Given the description of an element on the screen output the (x, y) to click on. 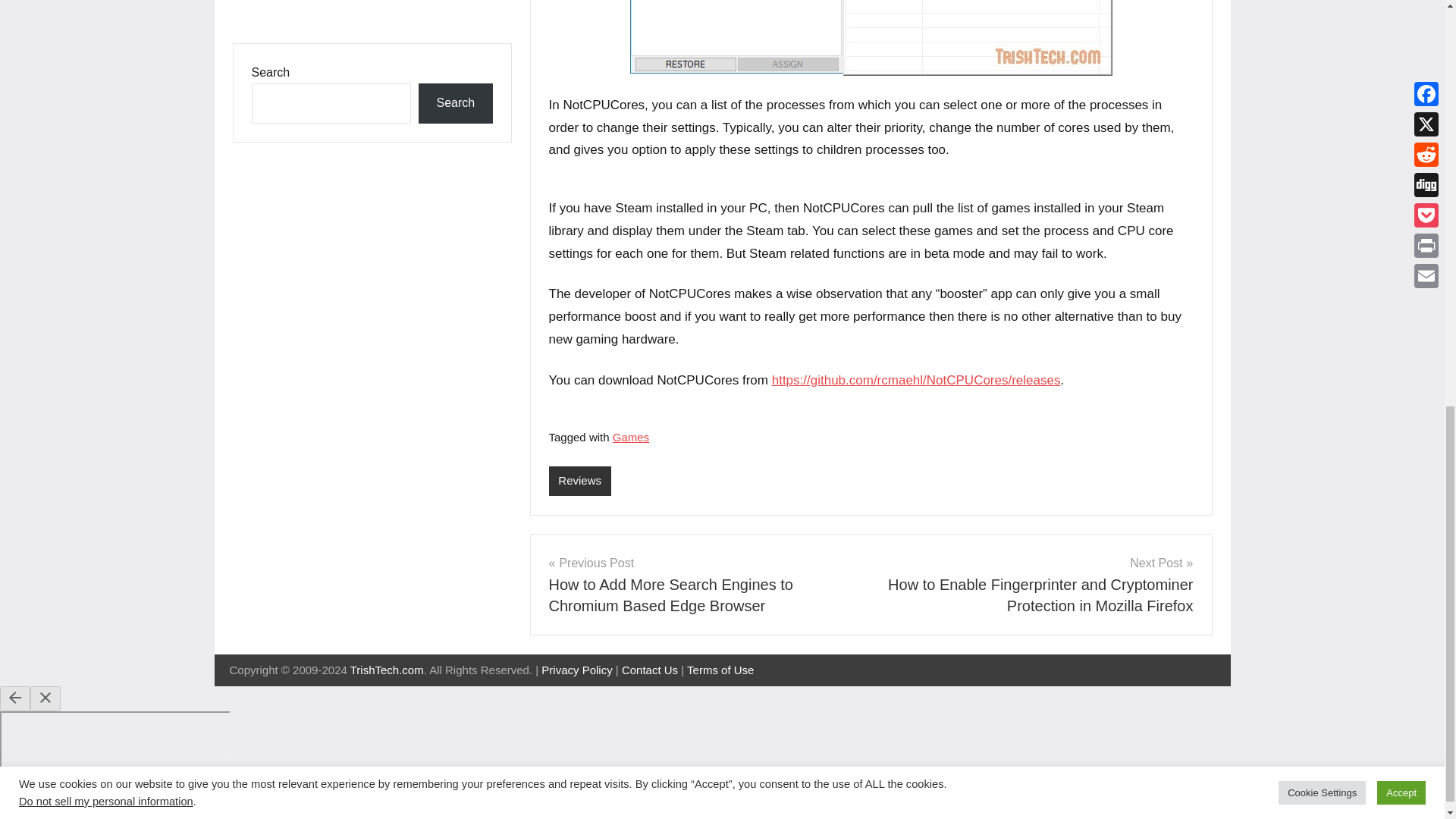
Advertisement (371, 12)
Privacy Policy (576, 669)
Games (630, 436)
Terms of Use (720, 669)
Search (455, 103)
Reviews (579, 481)
TrishTech.com (386, 669)
Contact Us (649, 669)
